Given the description of an element on the screen output the (x, y) to click on. 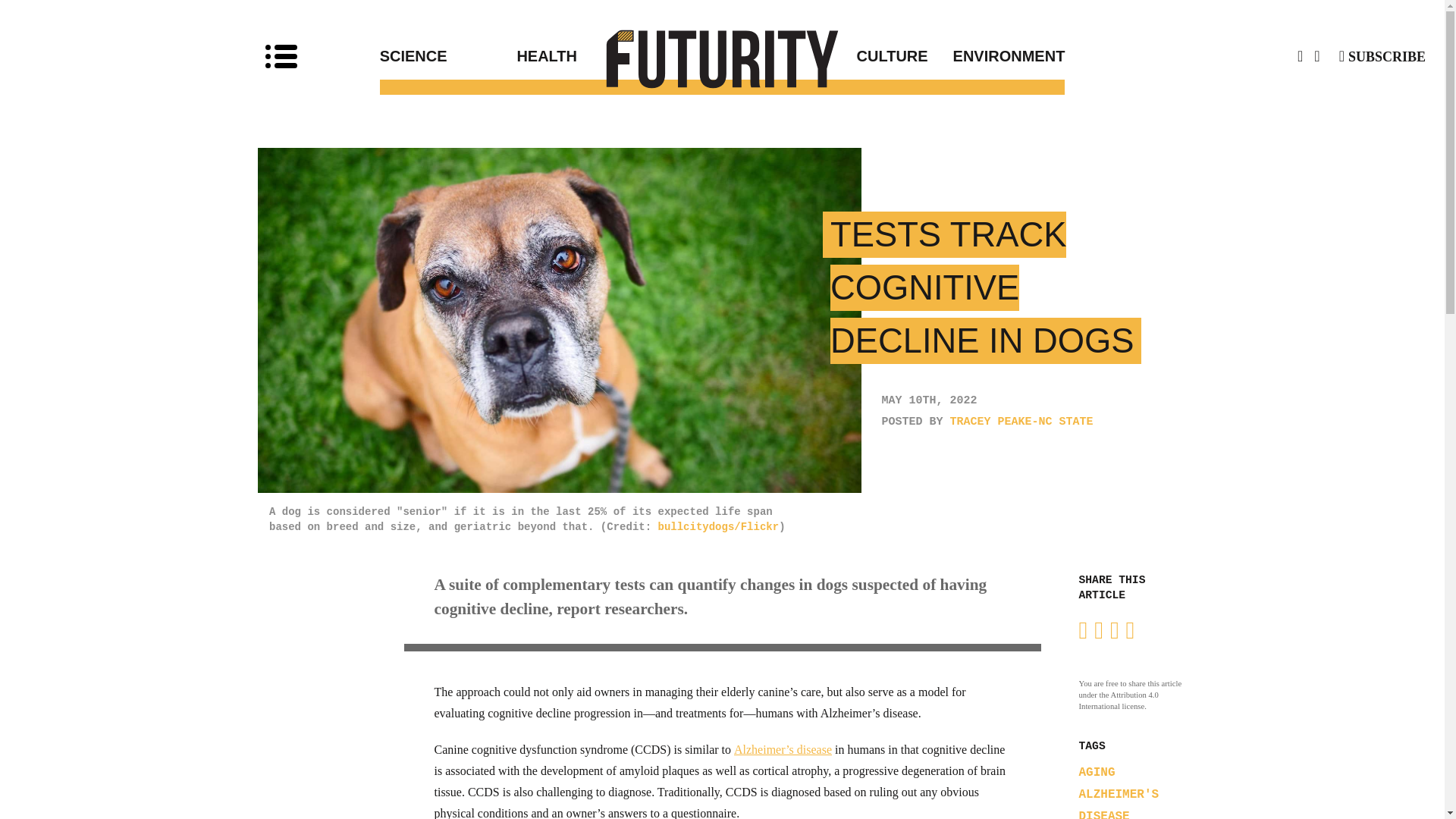
AGING (1096, 772)
Health (619, 55)
CULTURE (824, 55)
Science (448, 55)
SUBSCRIBE (1382, 56)
ALZHEIMER'S DISEASE (1118, 803)
HEALTH (619, 55)
TRACEY PEAKE-NC STATE (1021, 421)
Research news from top universities (722, 58)
SCIENCE (448, 55)
